Given the description of an element on the screen output the (x, y) to click on. 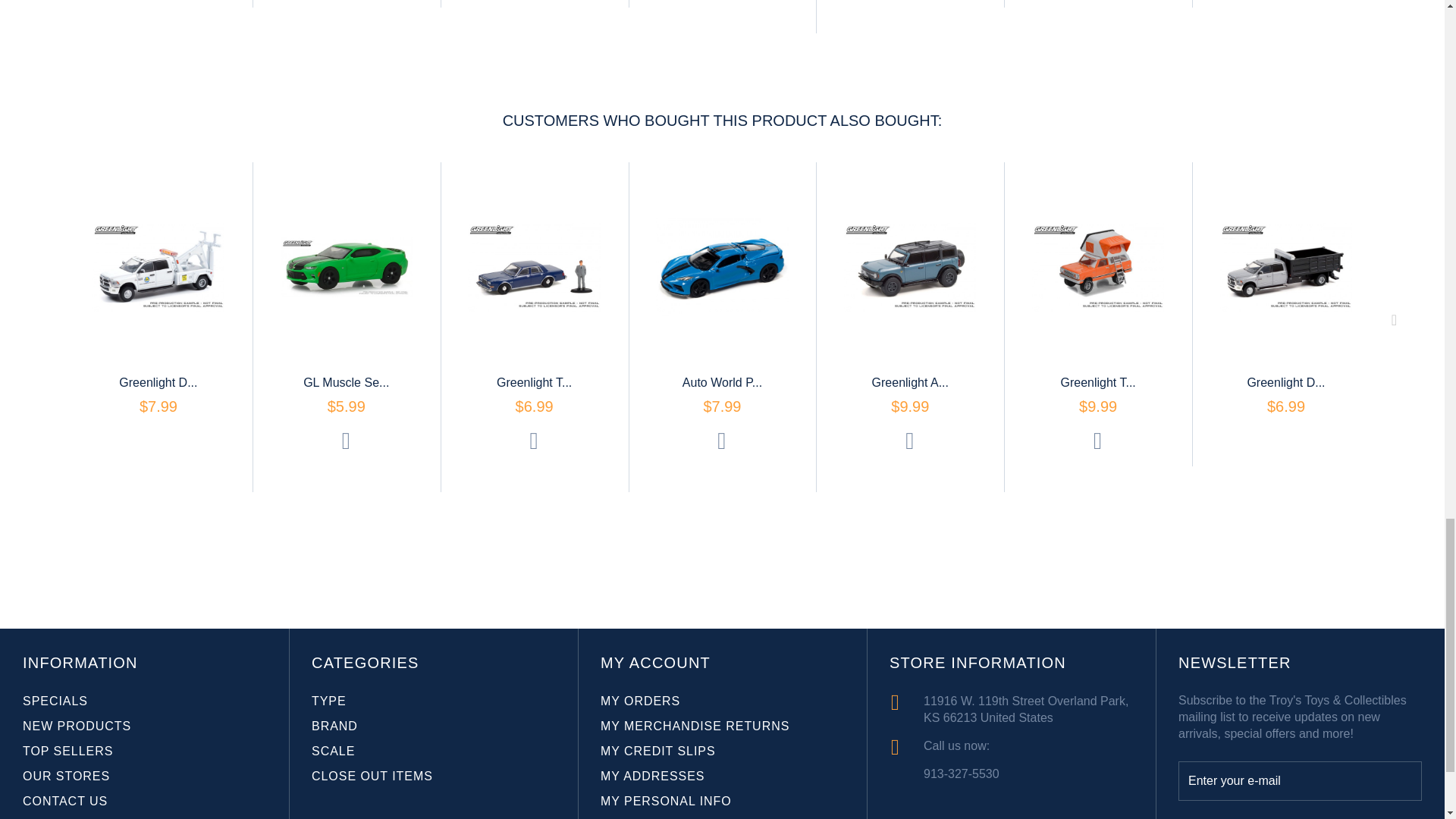
Enter your e-mail (1299, 780)
